Given the description of an element on the screen output the (x, y) to click on. 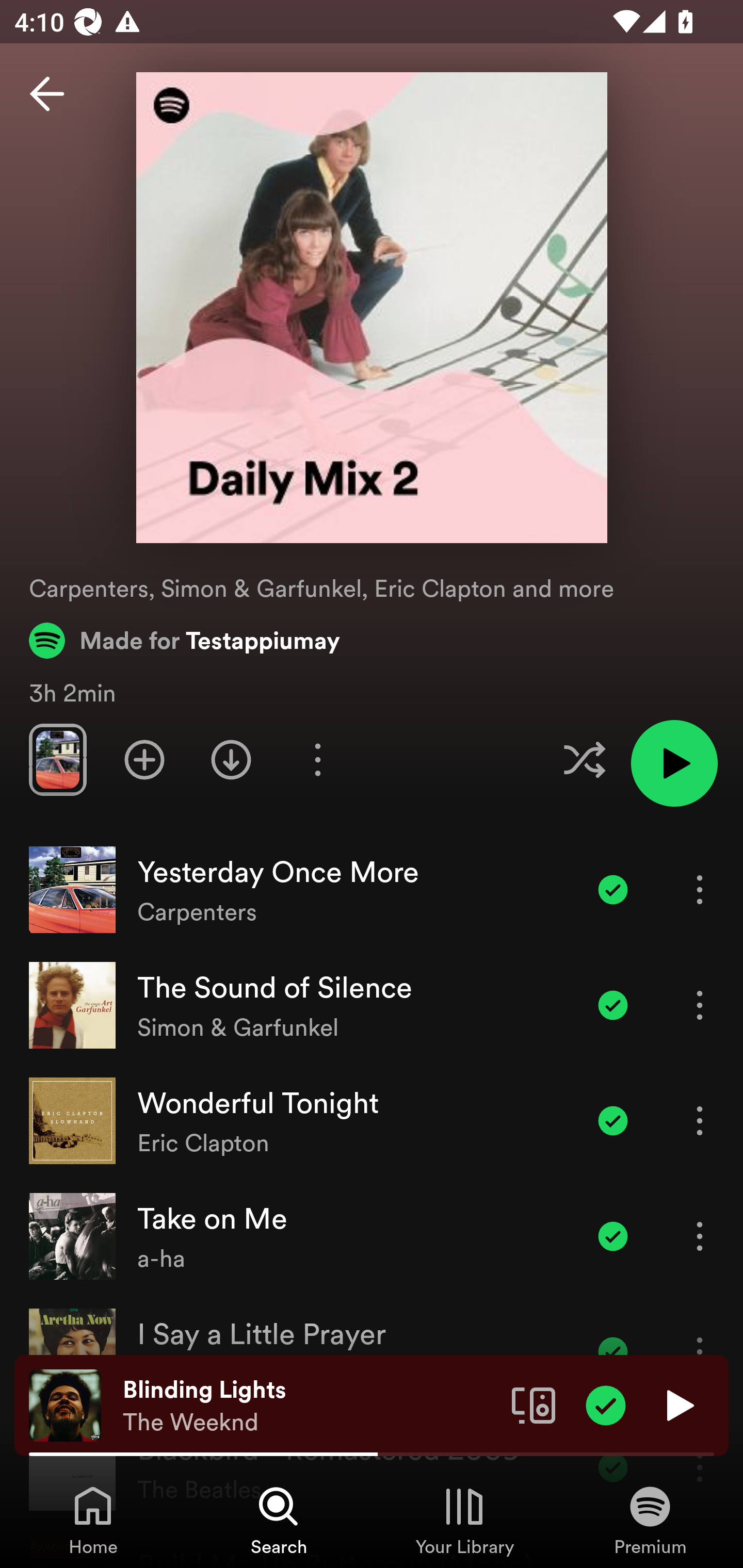
Back (46, 93)
Made for Testappiumay (184, 640)
Swipe through previews of tracks in this playlist. (57, 759)
Add playlist to Your Library (144, 759)
Download (230, 759)
More options for playlist Daily Mix 2 (317, 759)
Enable shuffle for this playlist (583, 759)
Play playlist (674, 763)
Item added (612, 889)
More options for song Yesterday Once More (699, 889)
Item added (612, 1004)
More options for song The Sound of Silence (699, 1004)
Item added (612, 1120)
More options for song Wonderful Tonight (699, 1120)
Item added (612, 1236)
More options for song Take on Me (699, 1236)
Blinding Lights The Weeknd (309, 1405)
The cover art of the currently playing track (64, 1404)
Connect to a device. Opens the devices menu (533, 1404)
Item added (605, 1404)
Play (677, 1404)
Home, Tab 1 of 4 Home Home (92, 1519)
Search, Tab 2 of 4 Search Search (278, 1519)
Your Library, Tab 3 of 4 Your Library Your Library (464, 1519)
Premium, Tab 4 of 4 Premium Premium (650, 1519)
